Given the description of an element on the screen output the (x, y) to click on. 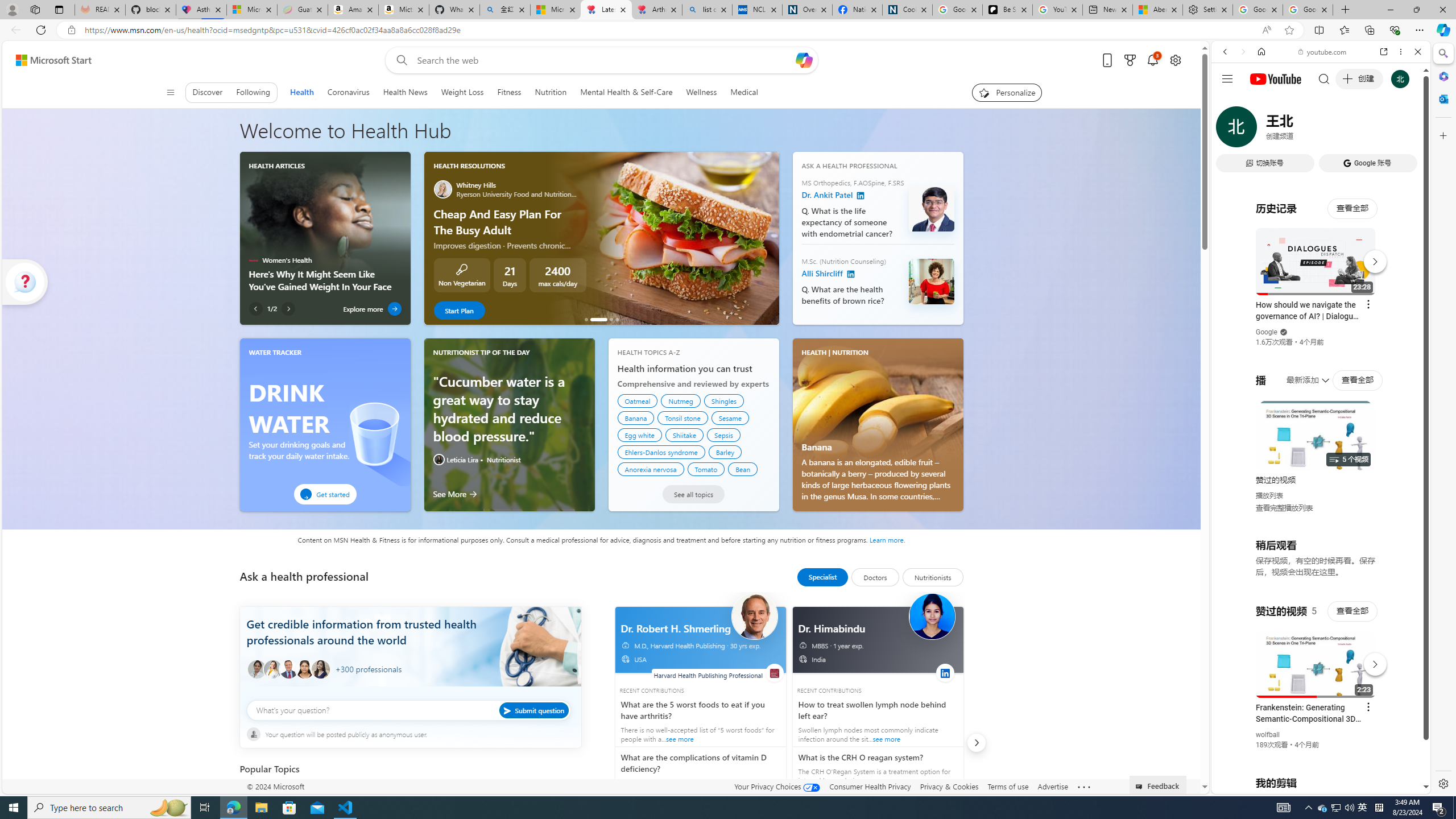
Forward (1242, 51)
Harvard logo (774, 673)
Search Filter, VIDEOS (1300, 129)
Tonsil stone (682, 418)
Search Filter, Search Tools (1350, 129)
NCL Adult Asthma Inhaler Choice Guideline (757, 9)
Class: feedback_link_icon-DS-EntryPoint1-1 (1140, 786)
Dr. Ankit Patel (861, 196)
Learn more. (887, 539)
Google (1266, 331)
